Given the description of an element on the screen output the (x, y) to click on. 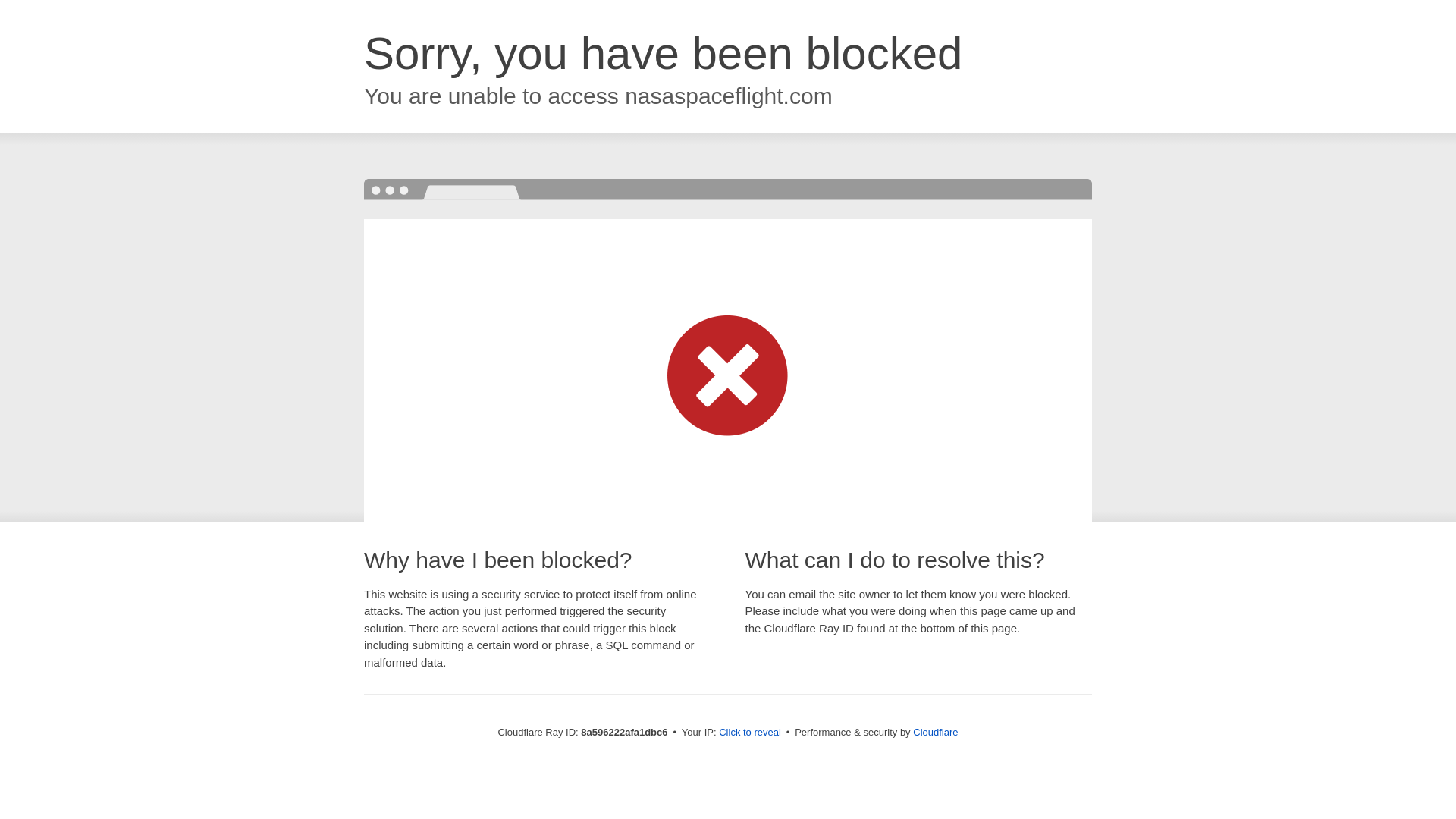
Cloudflare (935, 731)
Click to reveal (749, 732)
